Given the description of an element on the screen output the (x, y) to click on. 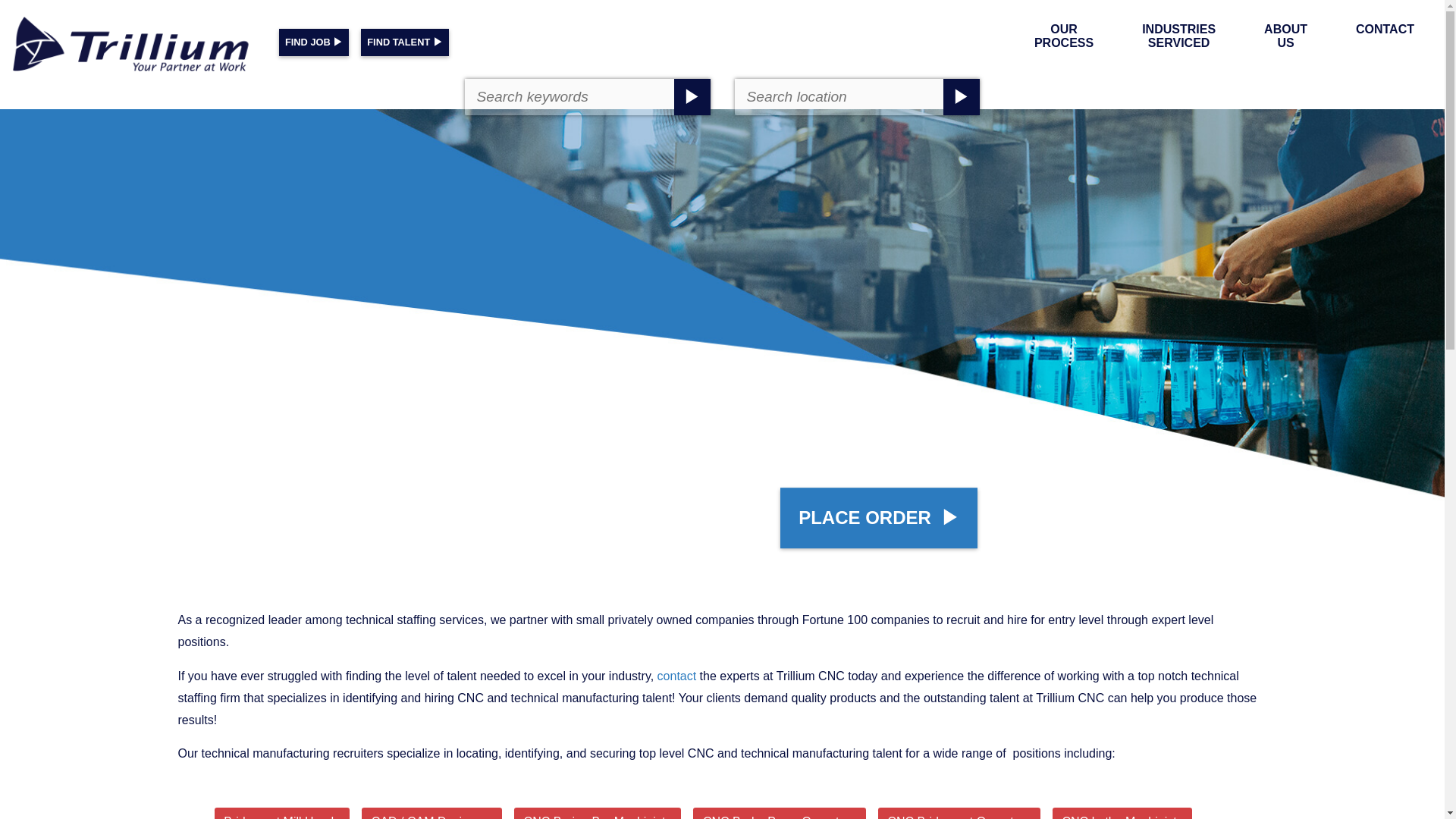
CNC Brake Press Operators (778, 813)
CNC Lathe Machinists (1122, 813)
ABOUT US (1285, 36)
CONTACT (1384, 29)
OUR PROCESS (1063, 36)
CNC Bridgeport Operators (959, 813)
Bridgeport Mill Hands (281, 813)
Home Page Logo Link (133, 46)
CNC Boring Bar Machinists (597, 813)
contact (677, 675)
INDUSTRIES SERVICED (1178, 36)
